Given the description of an element on the screen output the (x, y) to click on. 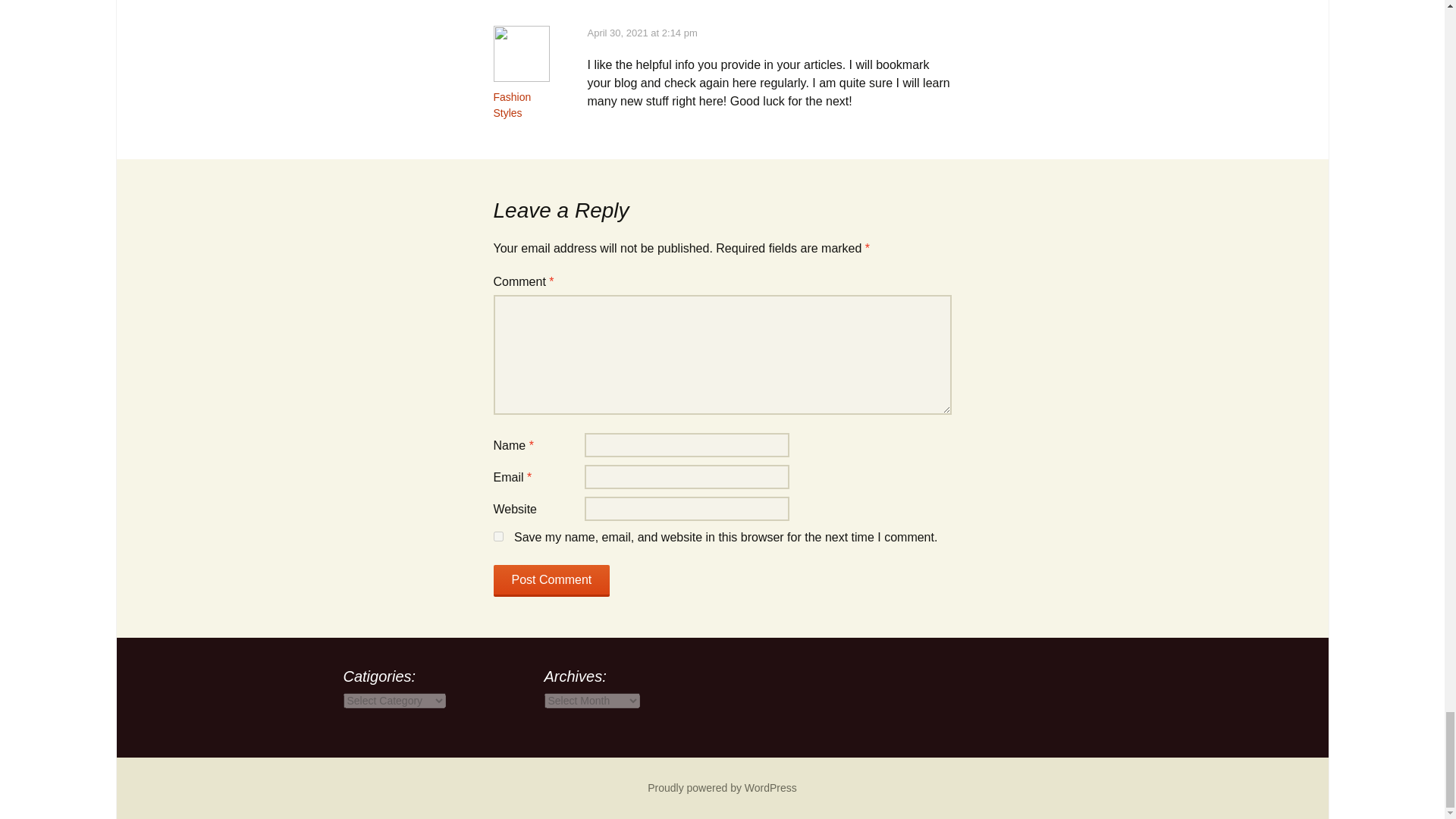
Post Comment (551, 581)
April 30, 2021 at 2:14 pm (641, 32)
yes (497, 536)
Fashion Styles (512, 104)
Post Comment (551, 581)
Proudly powered by WordPress (721, 787)
